Given the description of an element on the screen output the (x, y) to click on. 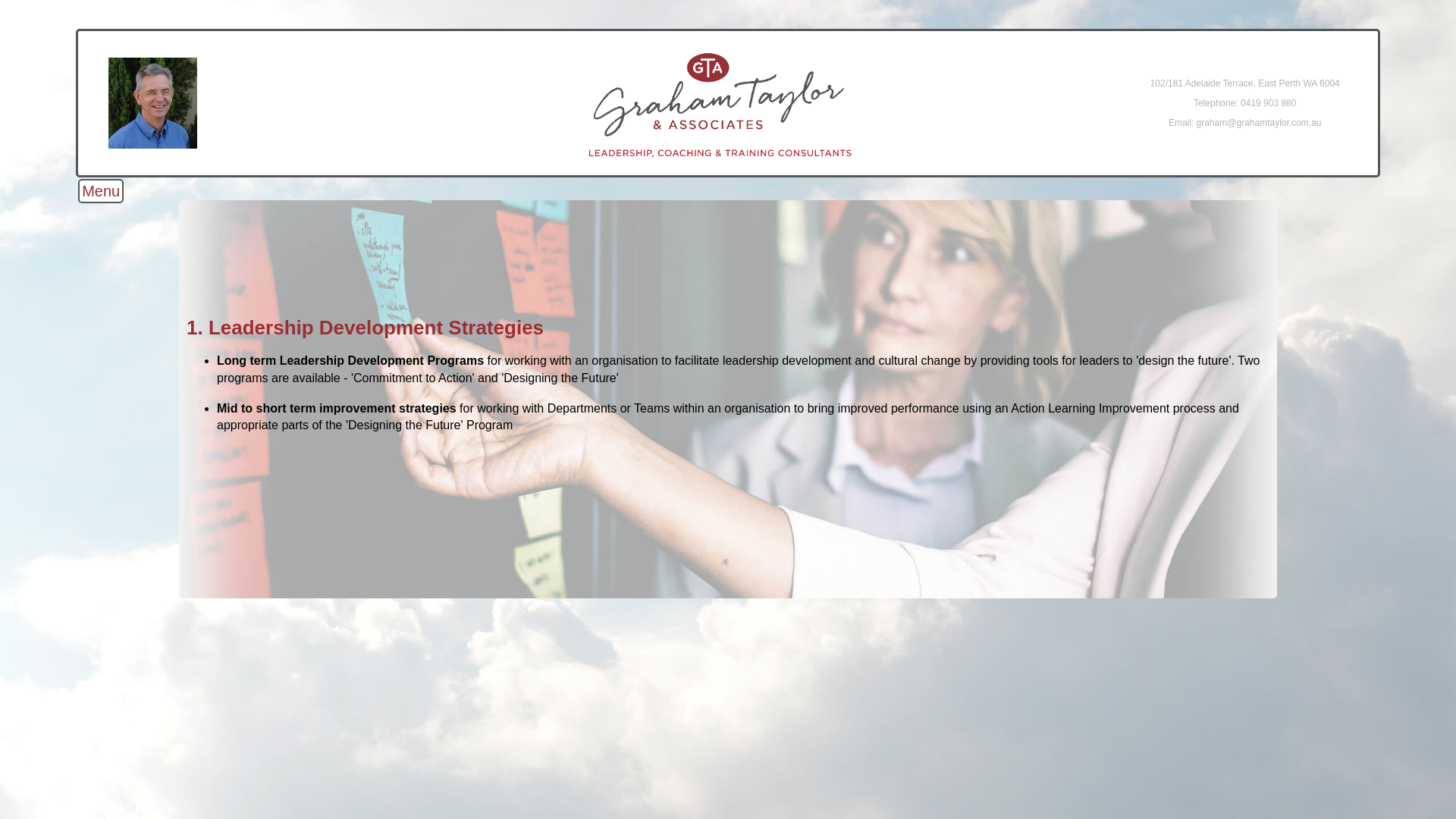
Menu Element type: text (100, 190)
